Given the description of an element on the screen output the (x, y) to click on. 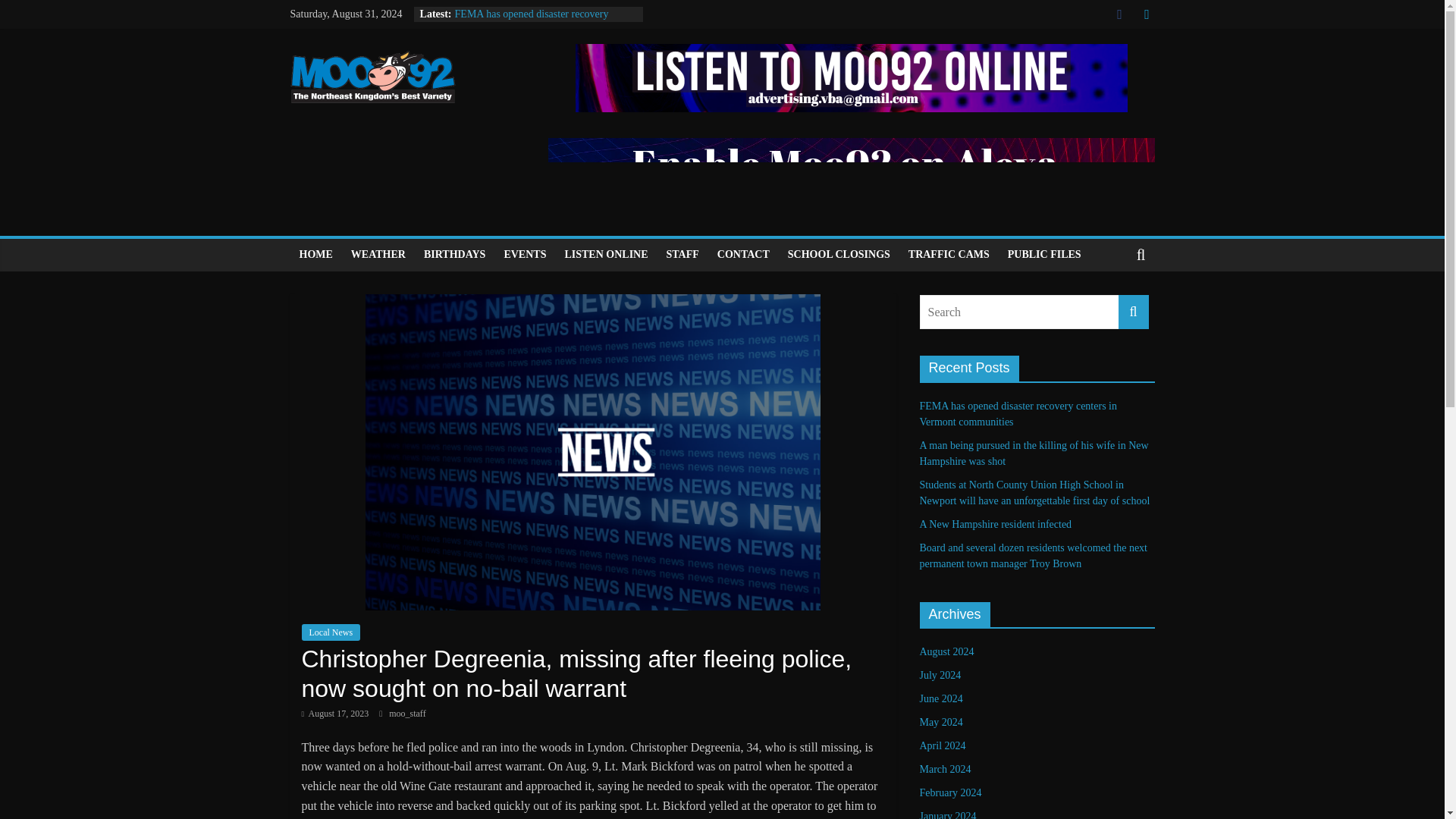
PUBLIC FILES (1044, 255)
July 2024 (939, 674)
August 17, 2023 (335, 713)
March 2024 (944, 768)
April 2024 (941, 745)
A New Hampshire resident infected (994, 523)
6:21 am (335, 713)
LISTEN ONLINE (605, 255)
CONTACT (742, 255)
